Given the description of an element on the screen output the (x, y) to click on. 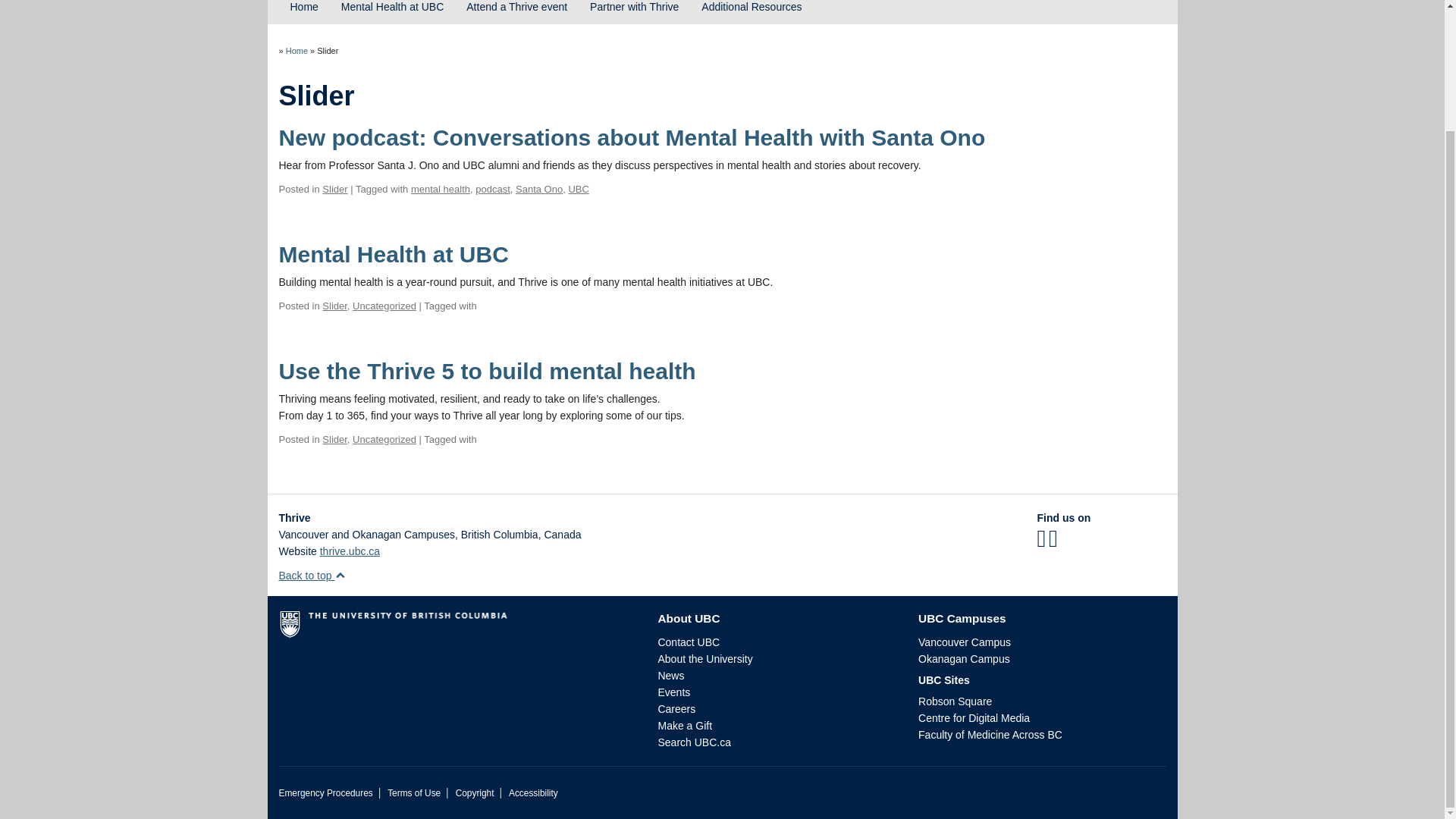
Uncategorized (384, 439)
mental health (440, 188)
Use the Thrive 5 to build mental health (487, 371)
Santa Ono (538, 188)
Back to top (312, 575)
The University of British Columbia (456, 629)
Slider (334, 439)
Mental Health at UBC (393, 253)
Thrive at UBC (296, 50)
Partner with Thrive (634, 12)
podcast (493, 188)
Attend a Thrive event (516, 12)
thrive.ubc.ca (350, 551)
Slider (334, 188)
